Given the description of an element on the screen output the (x, y) to click on. 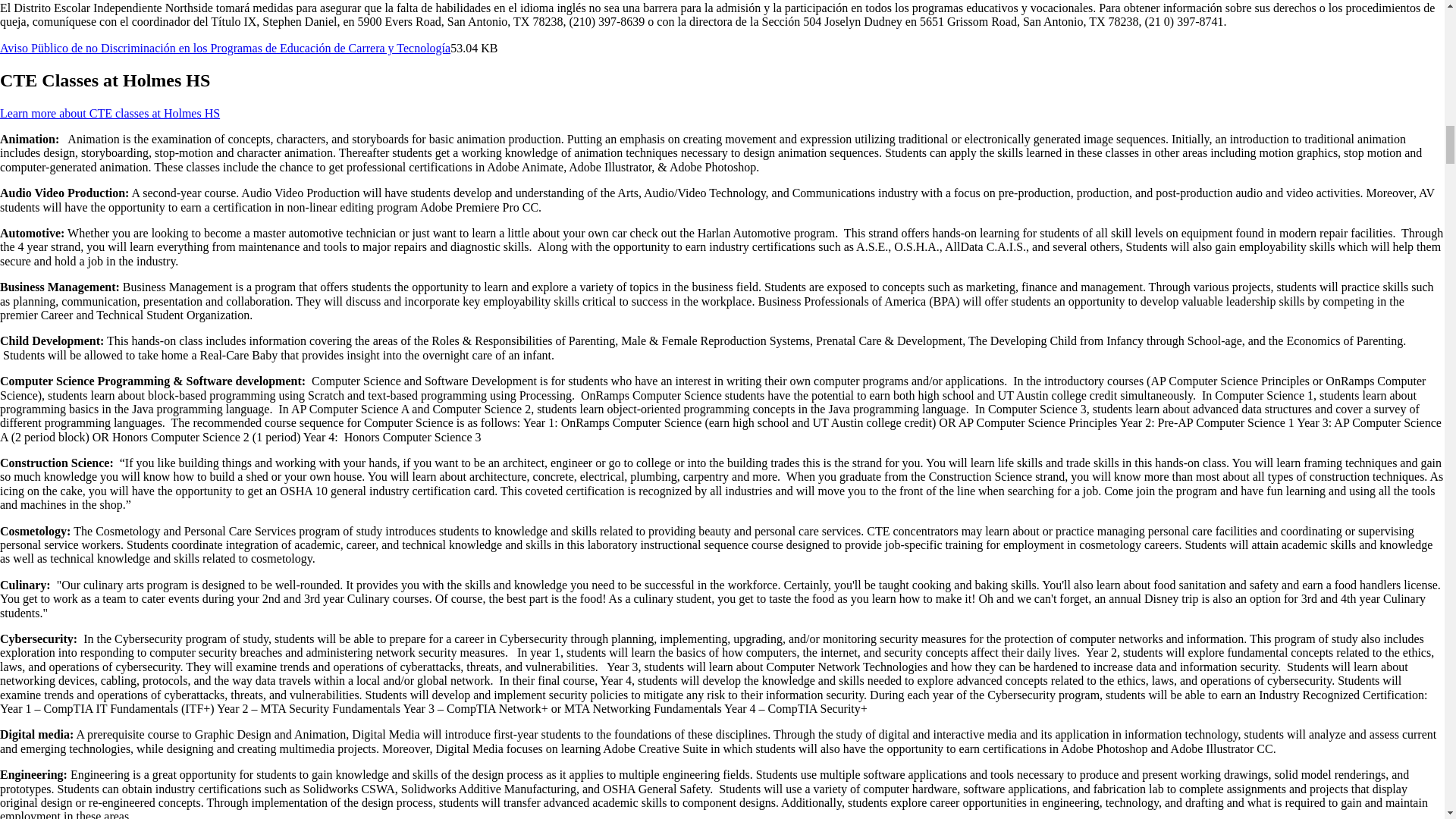
Open file in new window (224, 47)
